Given the description of an element on the screen output the (x, y) to click on. 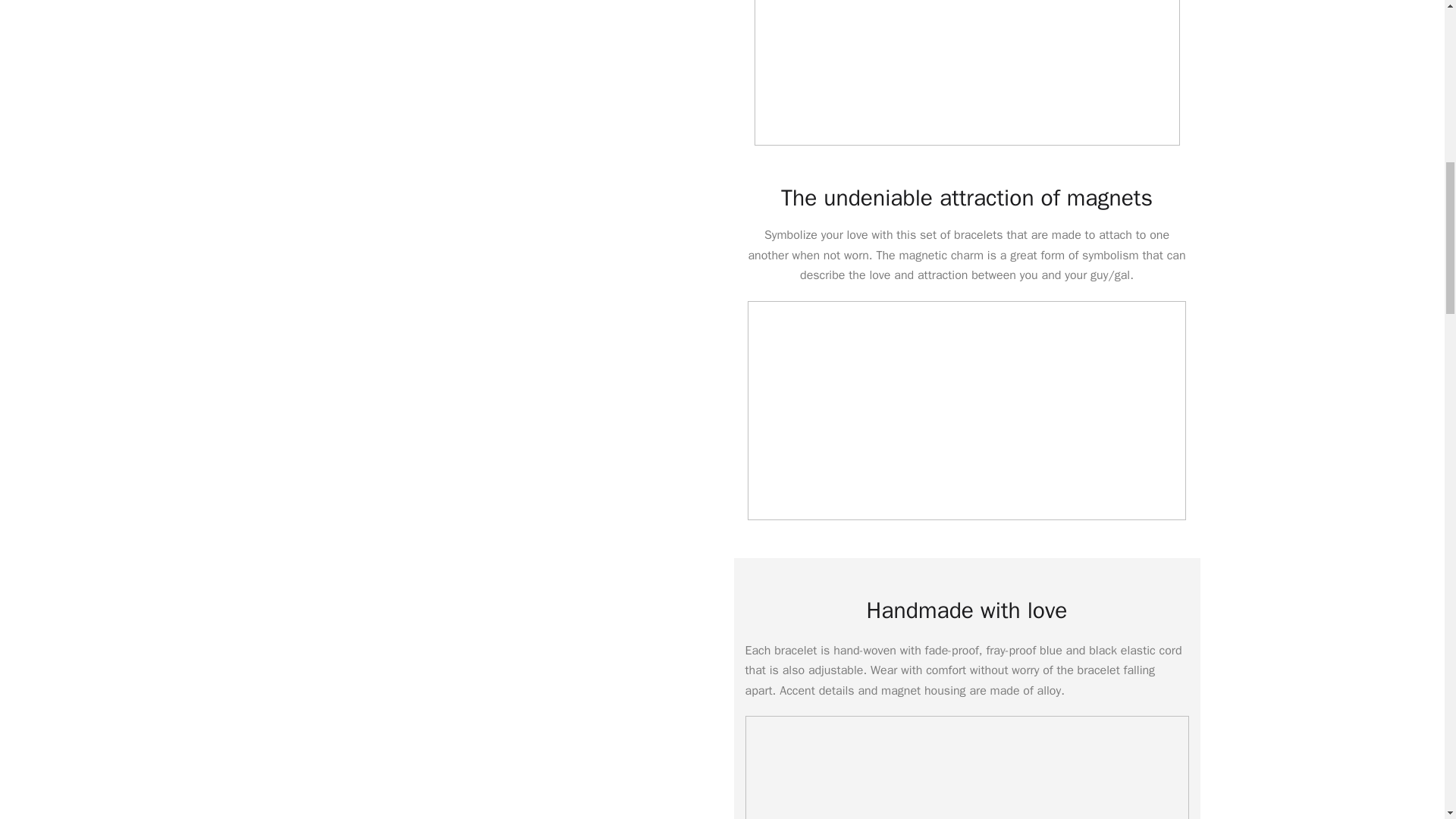
1 (966, 72)
2 (967, 410)
3 (966, 767)
